Given the description of an element on the screen output the (x, y) to click on. 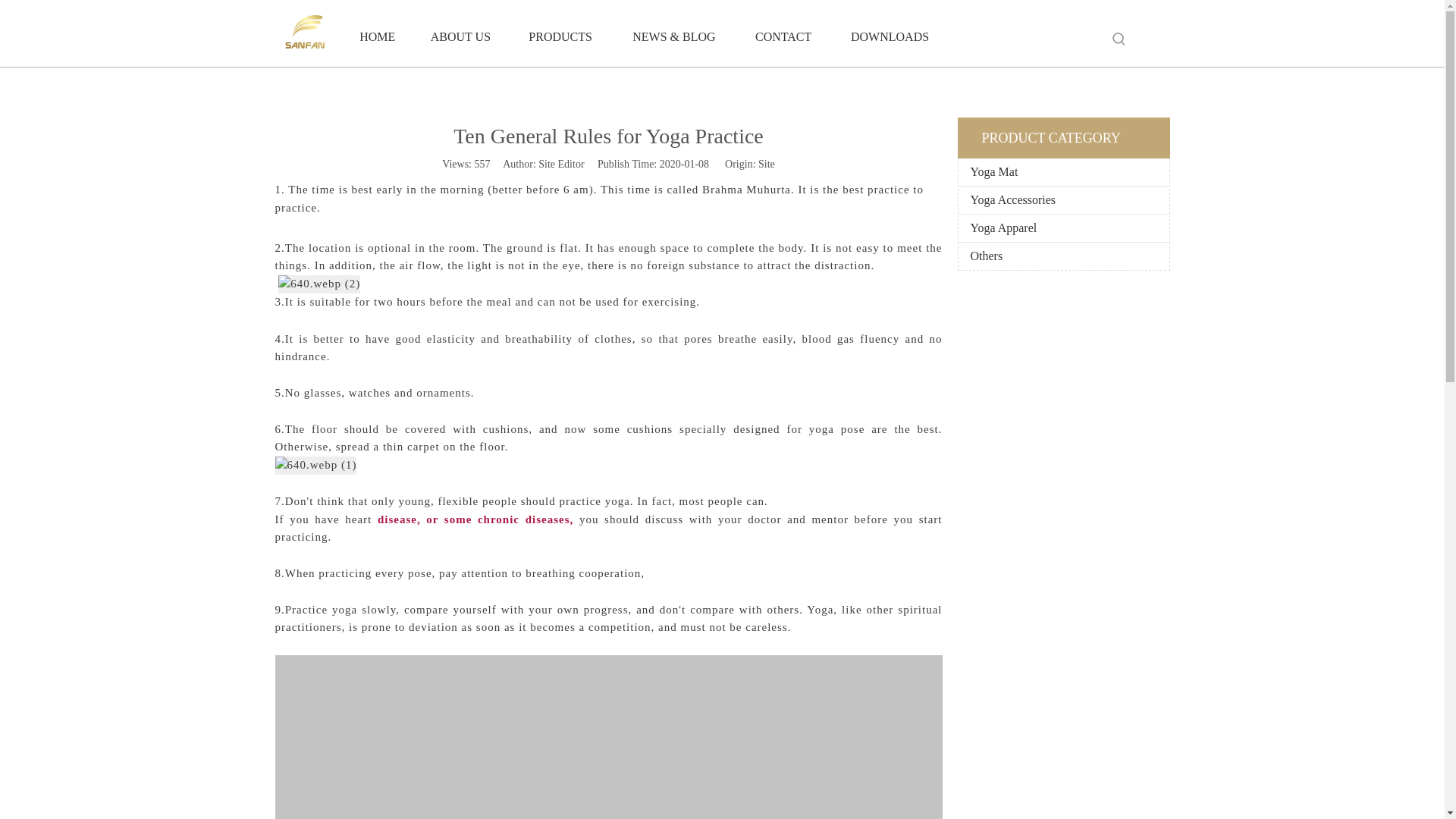
Yoga Accessories (1063, 199)
Sanfan logo (304, 31)
HOME (376, 36)
CONTACT (783, 36)
DOWNLOADS (890, 36)
Yoga Mat (1063, 171)
PRODUCTS (559, 36)
ABOUT US (460, 36)
